Given the description of an element on the screen output the (x, y) to click on. 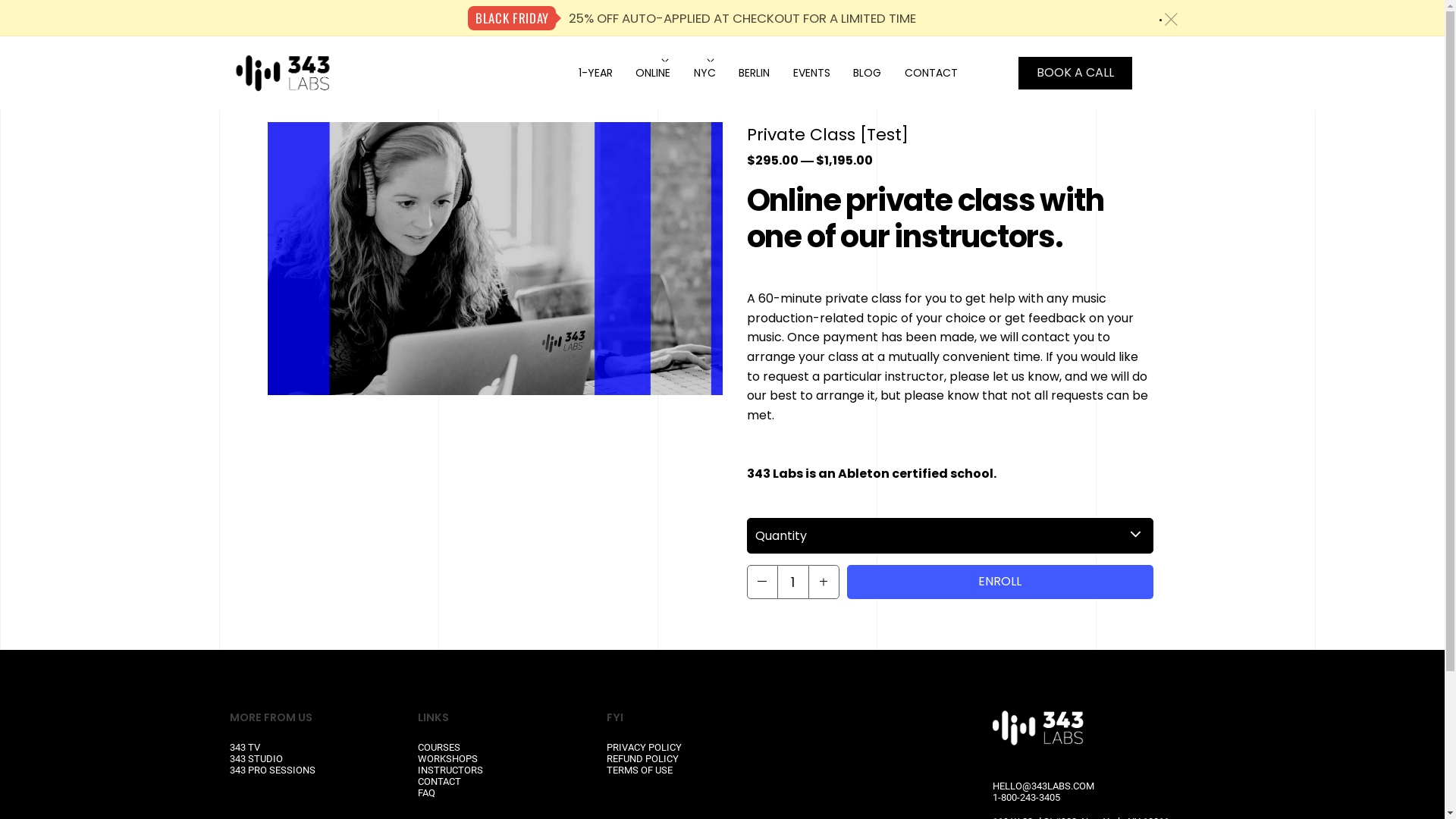
NYC Element type: text (704, 72)
PRIVACY POLICY Element type: text (643, 747)
343 Labs is an Ableton certified school. Element type: text (870, 473)
WORKSHOPS Element type: text (447, 758)
INSTRUCTORS Element type: text (450, 769)
FAQ Element type: text (426, 792)
343 TV Element type: text (244, 747)
343 STUDIO Element type: text (255, 758)
REFUND POLICY Element type: text (642, 758)
1-YEAR Element type: text (595, 72)
c Element type: text (1170, 19)
CONTACT Element type: text (439, 781)
EVENTS Element type: text (811, 72)
Private Class [Test] Element type: hover (282, 72)
HELLO@343LABS.COM Element type: text (1043, 785)
Quantity Element type: text (949, 535)
343 PRO SESSIONS Element type: text (272, 769)
F_343 LABS_LOGO_footer_music production school_NYC Element type: hover (1037, 740)
ONLINE Element type: text (652, 72)
1-800-243-3405 Element type: text (1026, 797)
COURSES Element type: text (438, 747)
CONTACT Element type: text (930, 72)
BOOK A CALL Element type: text (1075, 72)
ENROLL Element type: text (999, 581)
TERMS OF USE  Element type: text (640, 769)
BERLIN Element type: text (753, 72)
BLOG Element type: text (867, 72)
